Given the description of an element on the screen output the (x, y) to click on. 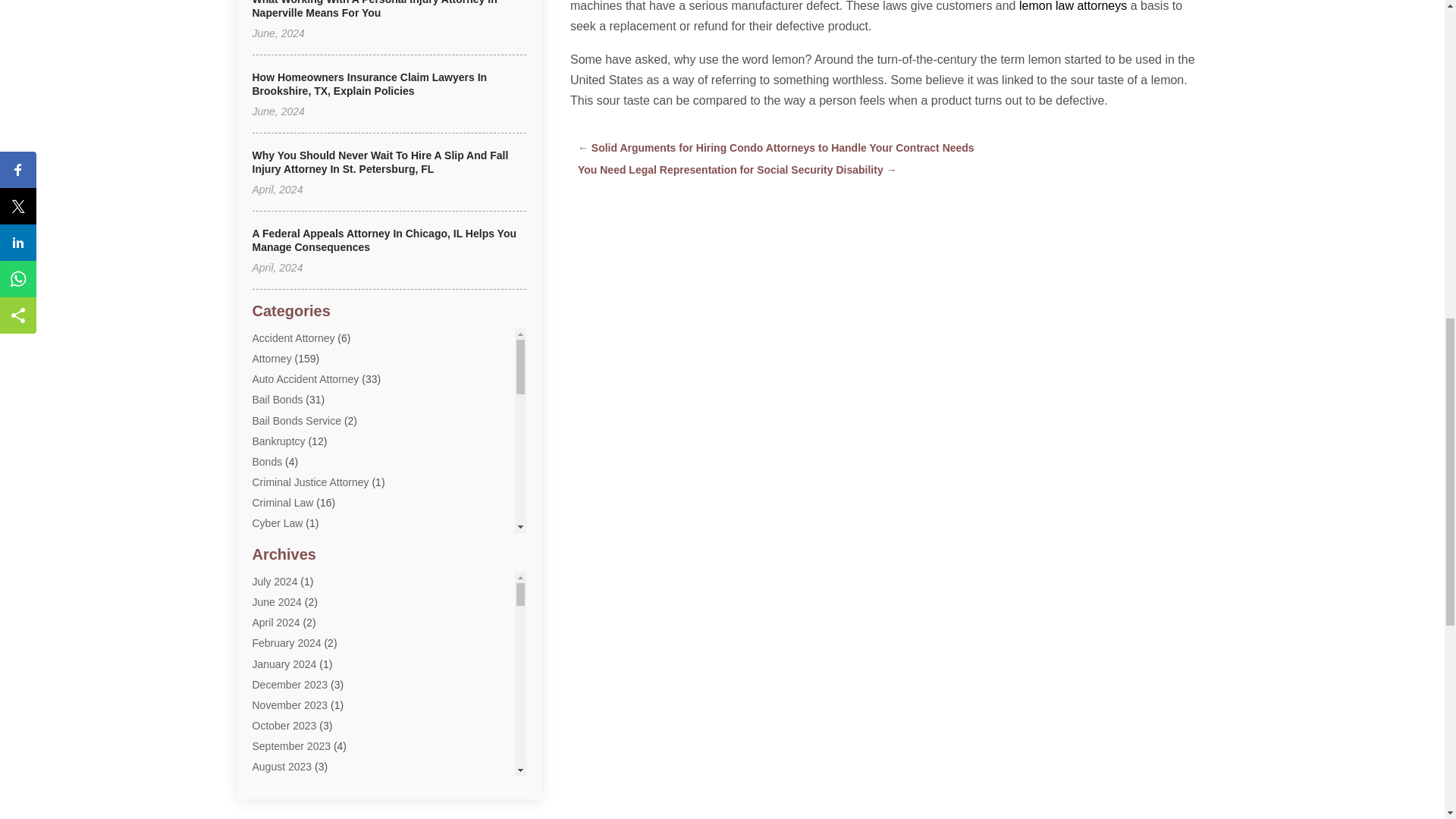
Employment Law (292, 625)
DWI Lawyers (282, 605)
Bail Bonds (276, 399)
Criminal Justice Attorney (309, 481)
Attorney (271, 358)
Auto Accident Attorney (304, 378)
Criminal Law (282, 502)
Bankruptcy (277, 440)
